Given the description of an element on the screen output the (x, y) to click on. 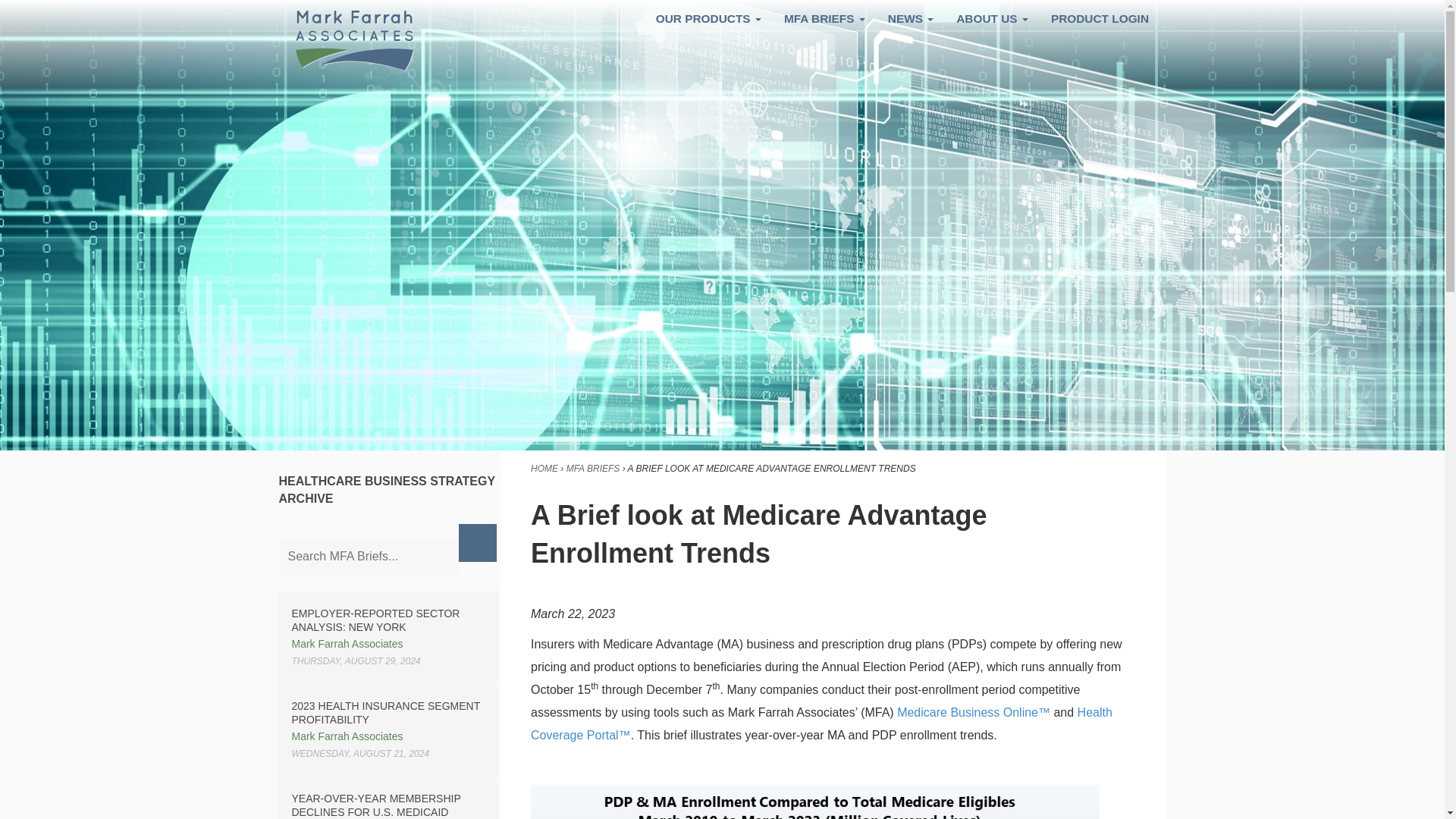
EMPLOYER-REPORTED SECTOR ANALYSIS: NEW YORK (375, 620)
PRODUCT LOGIN (1099, 18)
OUR PRODUCTS (709, 18)
ABOUT US (991, 18)
2023 HEALTH INSURANCE SEGMENT PROFITABILITY (385, 712)
NEWS (910, 18)
MFA BRIEFS (593, 468)
MFA BRIEFS (824, 18)
YEAR-OVER-YEAR MEMBERSHIP DECLINES FOR U.S. MEDICAID MARKET (375, 805)
HOME (544, 468)
